Given the description of an element on the screen output the (x, y) to click on. 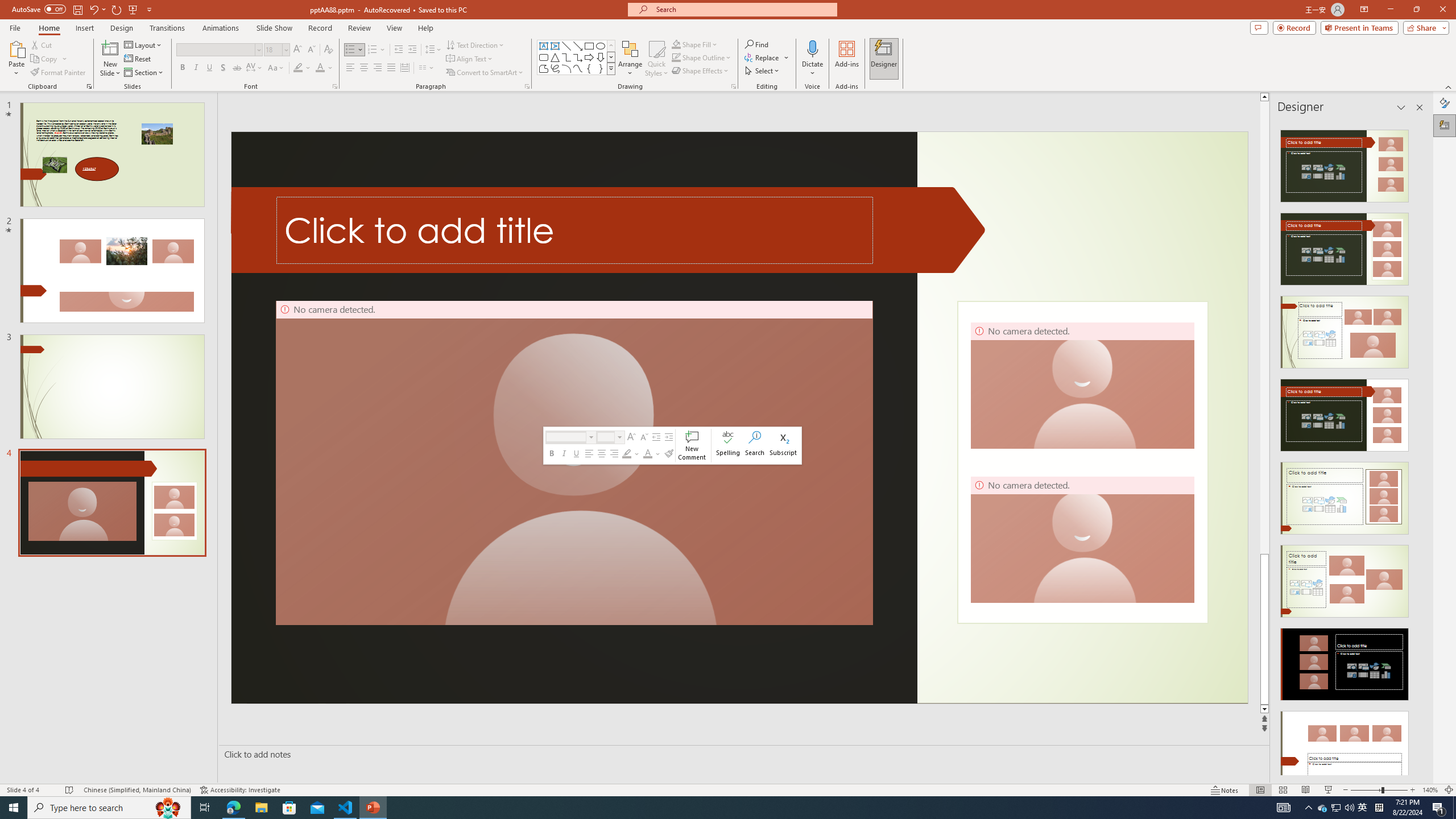
Camera 5, No camera detected. (574, 462)
